Given the description of an element on the screen output the (x, y) to click on. 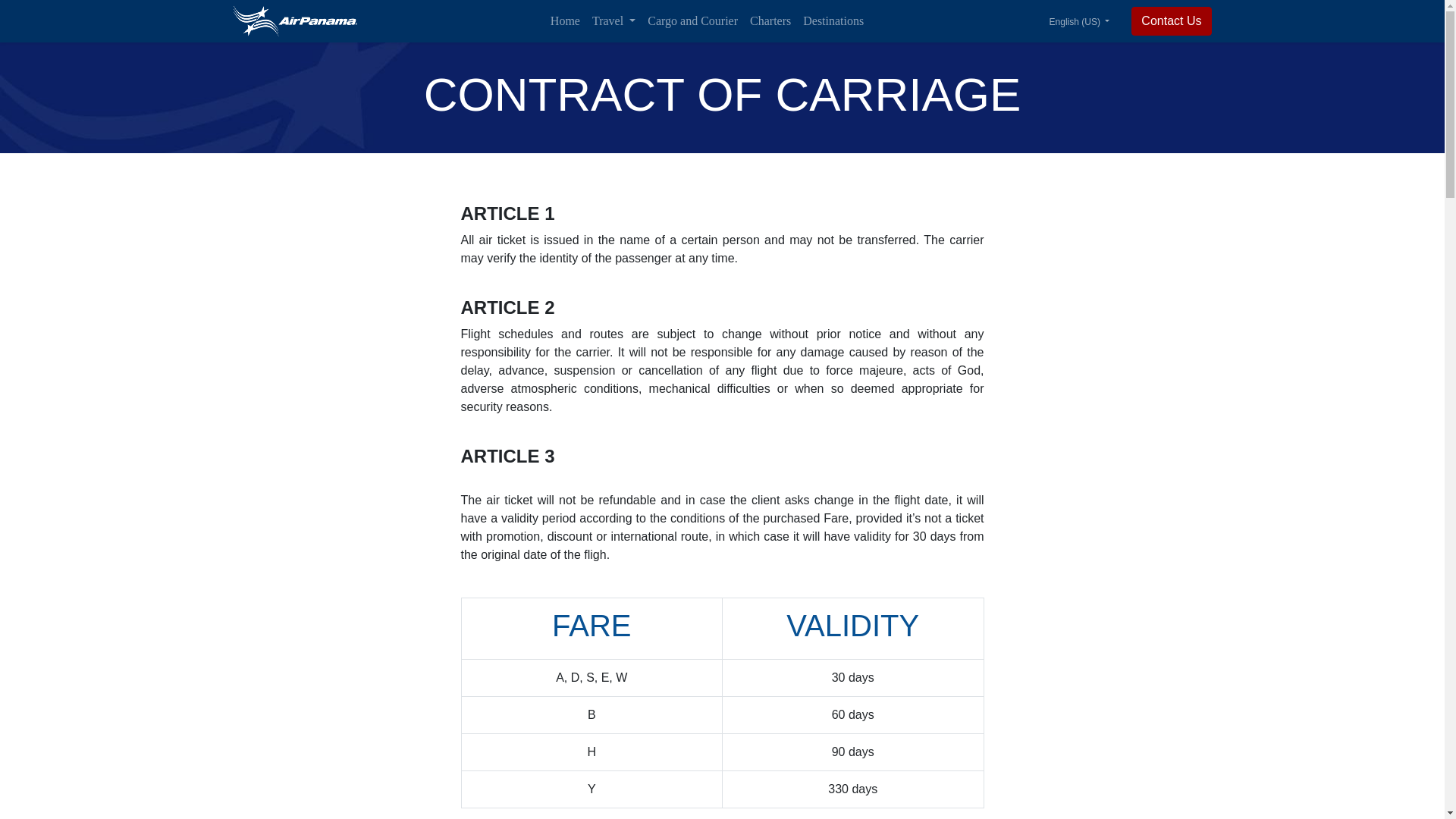
Travel (614, 20)
Charters (770, 20)
airpanama (294, 20)
Destinations (832, 20)
Cargo and Courier (693, 20)
Contact Us (1171, 21)
Home (565, 20)
